Given the description of an element on the screen output the (x, y) to click on. 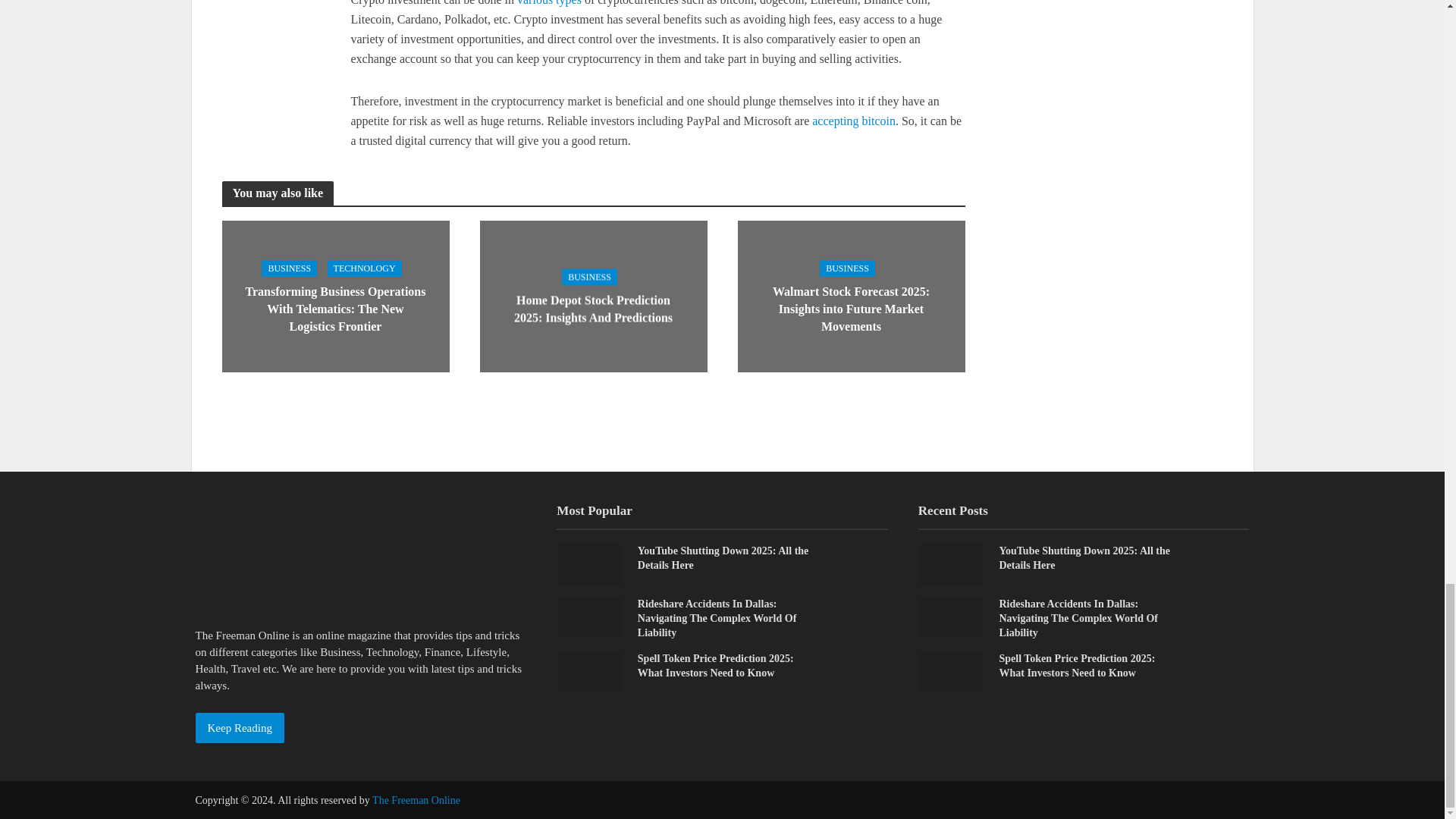
Home Depot Stock Prediction 2025: Insights And Predictions (592, 295)
